Given the description of an element on the screen output the (x, y) to click on. 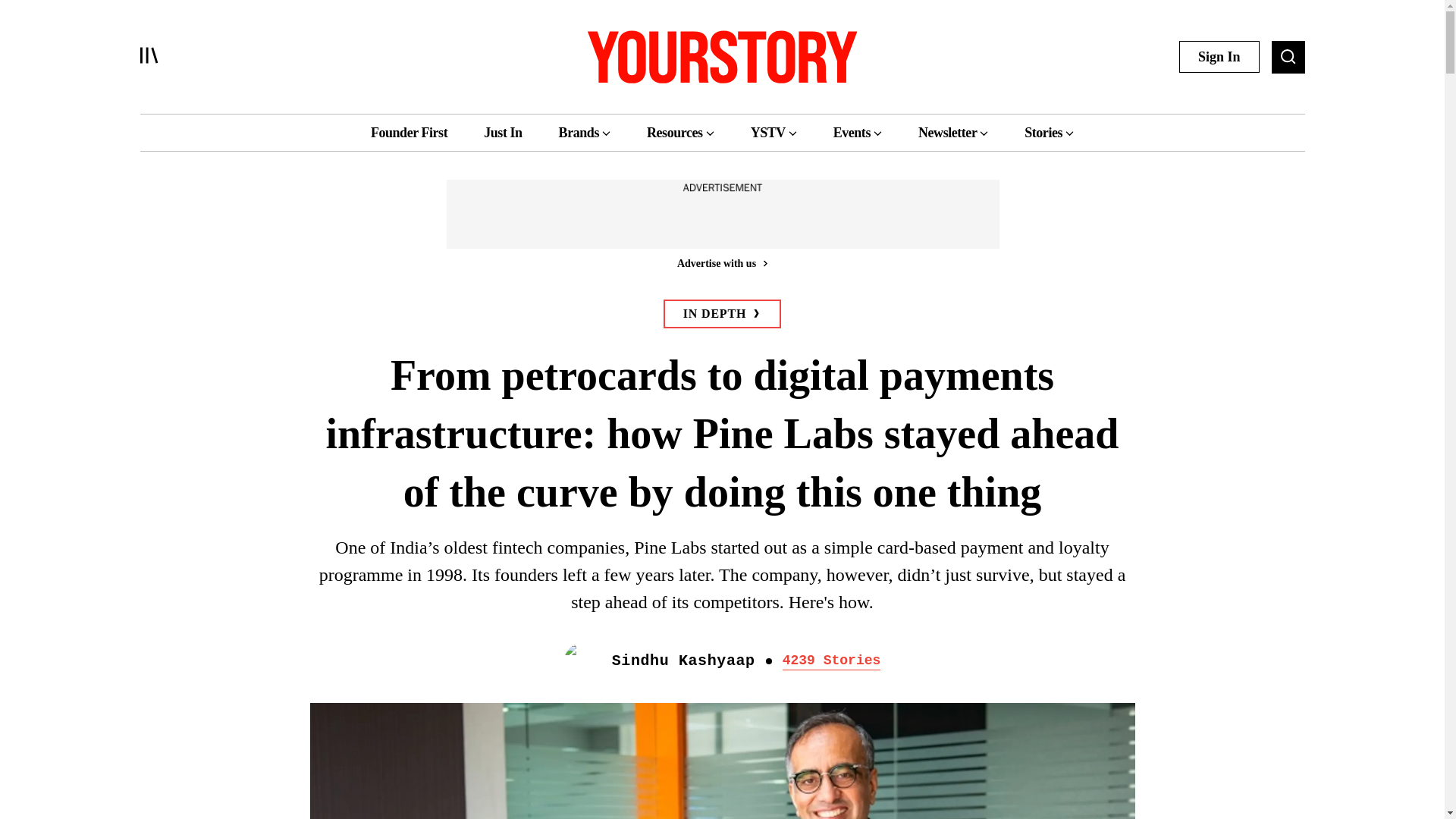
IN DEPTH (721, 313)
Founder First (408, 132)
Just In (502, 132)
Sindhu Kashyaap (683, 661)
Advertise with us (721, 263)
4239 Stories (831, 660)
